Given the description of an element on the screen output the (x, y) to click on. 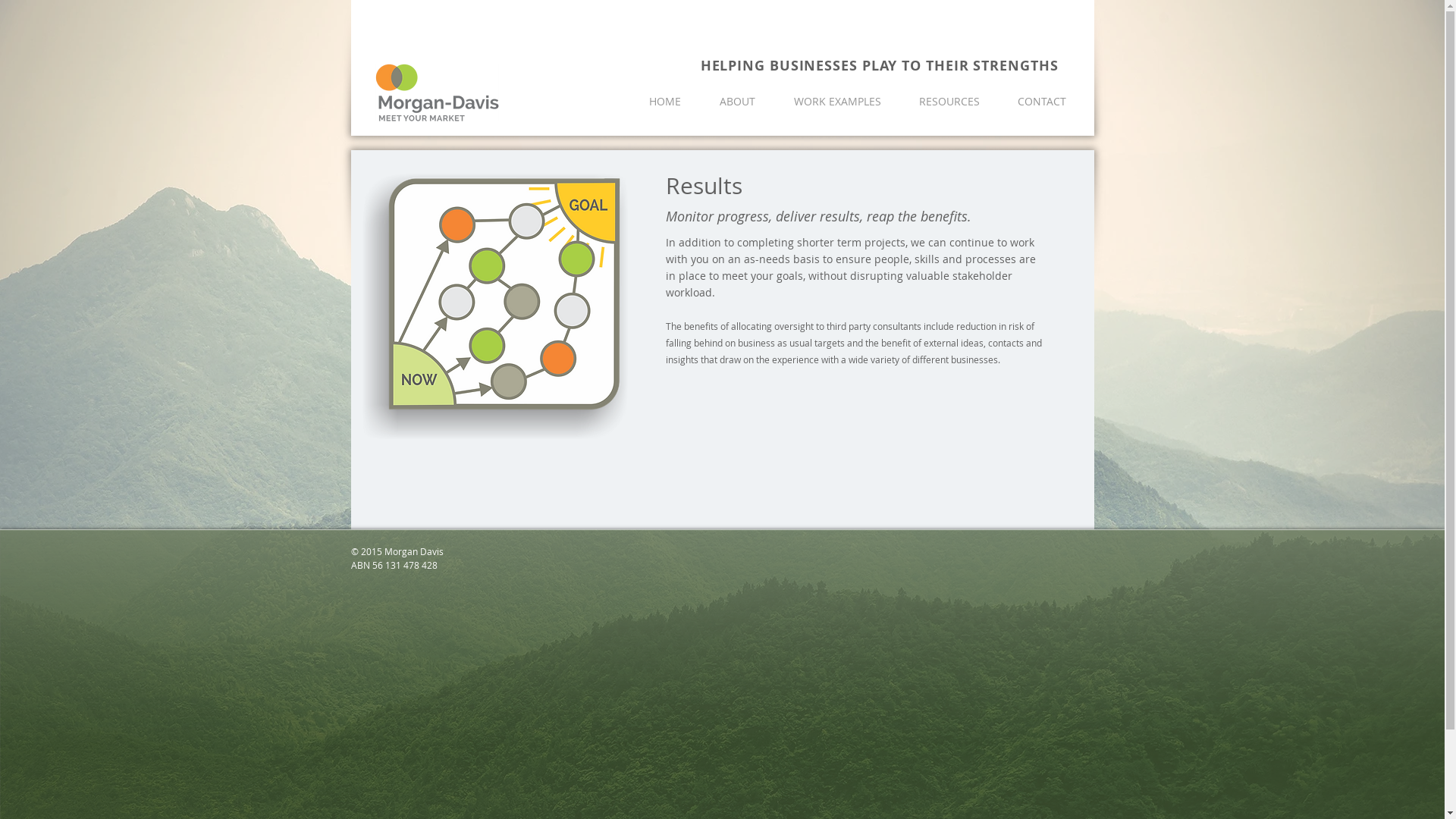
CONTACT Element type: text (1040, 100)
Services - Results.png Element type: hover (494, 305)
WORK EXAMPLES Element type: text (837, 100)
Morgan-Davis Logo.png Element type: hover (436, 92)
HOME Element type: text (664, 100)
RESOURCES Element type: text (948, 100)
ABOUT Element type: text (737, 100)
